Given the description of an element on the screen output the (x, y) to click on. 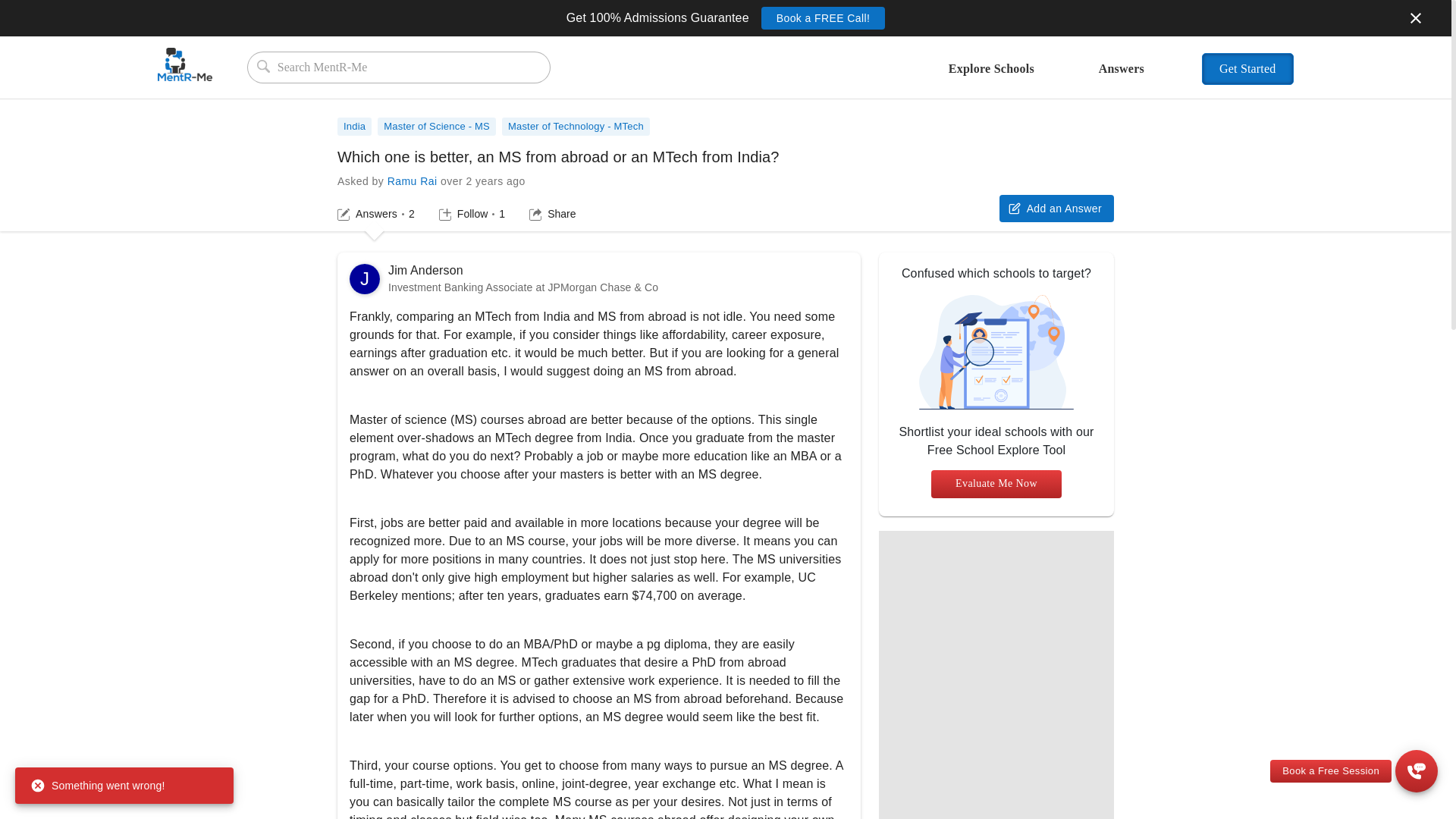
Book a FREE Call! (823, 17)
Jim Anderson (364, 278)
Evaluate Me Now (996, 483)
Master of Science - MS (436, 126)
Explore Schools (991, 76)
Master of Technology - MTech (575, 126)
Master of Science - MS (439, 122)
Get Started (1248, 69)
Share (472, 213)
Book a Free Session (552, 213)
India (1330, 771)
J (354, 126)
Master of Technology - MTech (364, 278)
India (579, 122)
